Given the description of an element on the screen output the (x, y) to click on. 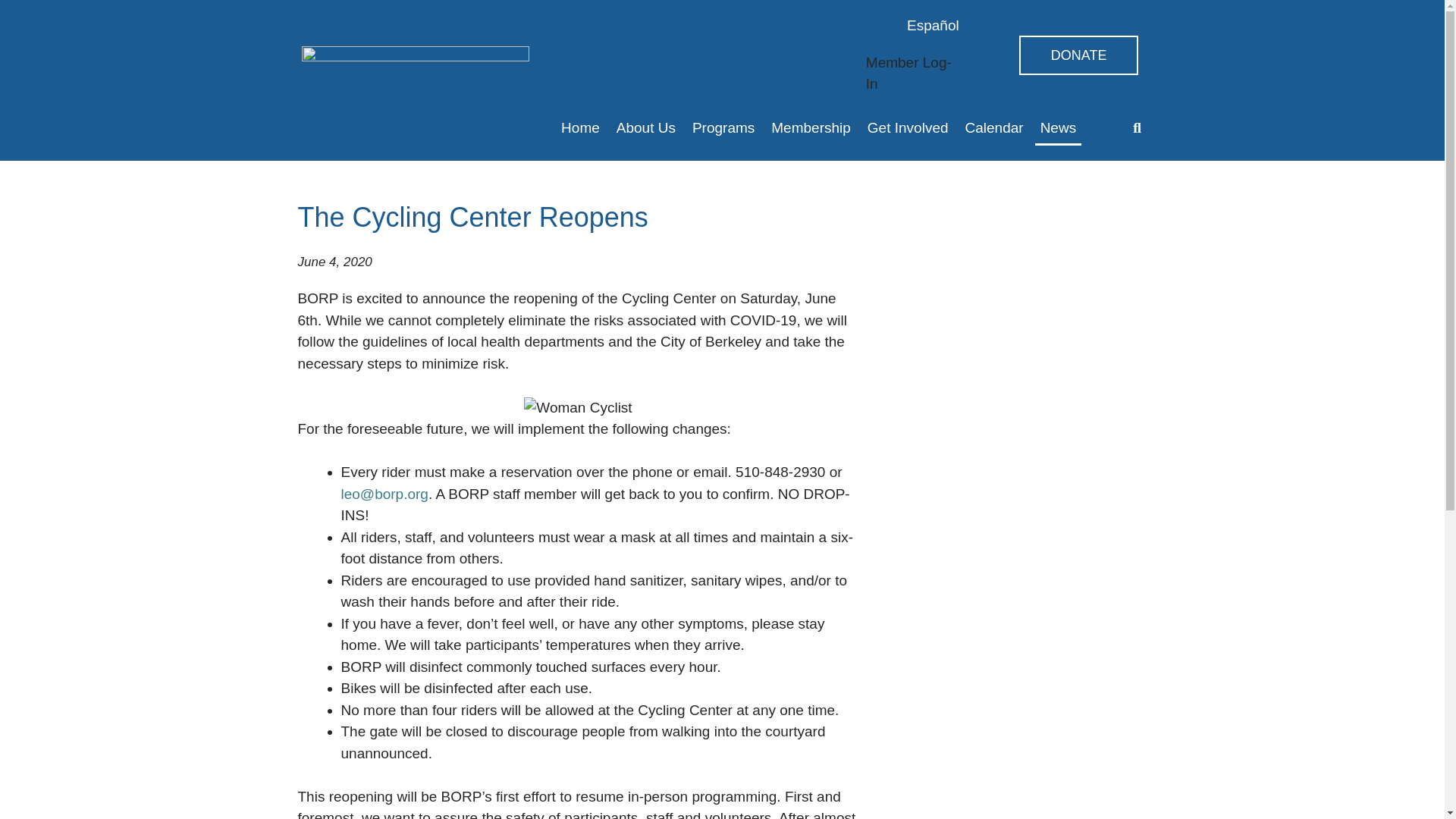
About Us (646, 127)
Get Involved (907, 127)
Member Log-In (909, 73)
Membership (810, 127)
DONATE (1078, 55)
Programs (723, 127)
Home (580, 127)
